Given the description of an element on the screen output the (x, y) to click on. 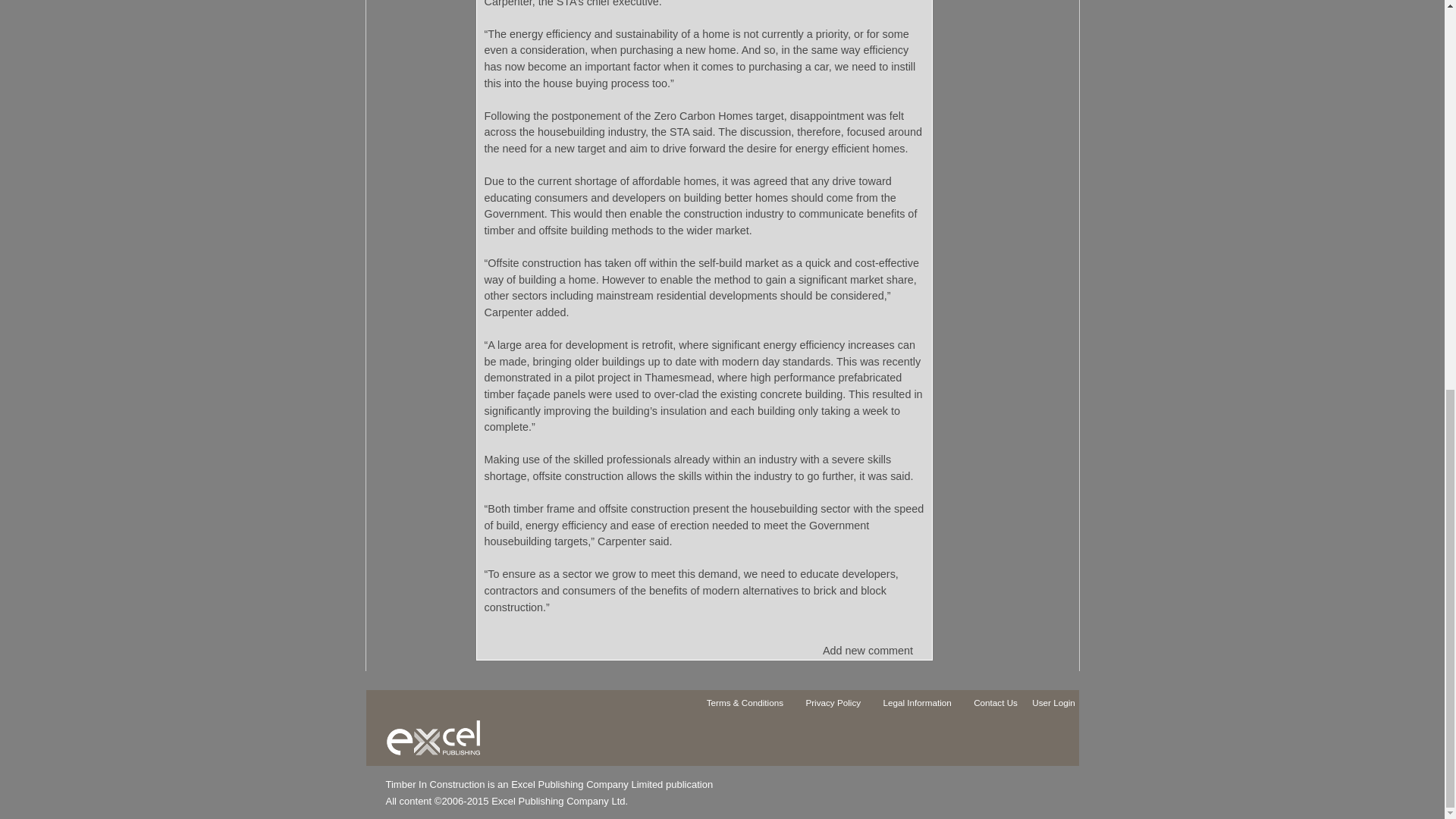
Legal Information (924, 705)
Privacy Policy (840, 705)
Contact Us (1003, 705)
